Given the description of an element on the screen output the (x, y) to click on. 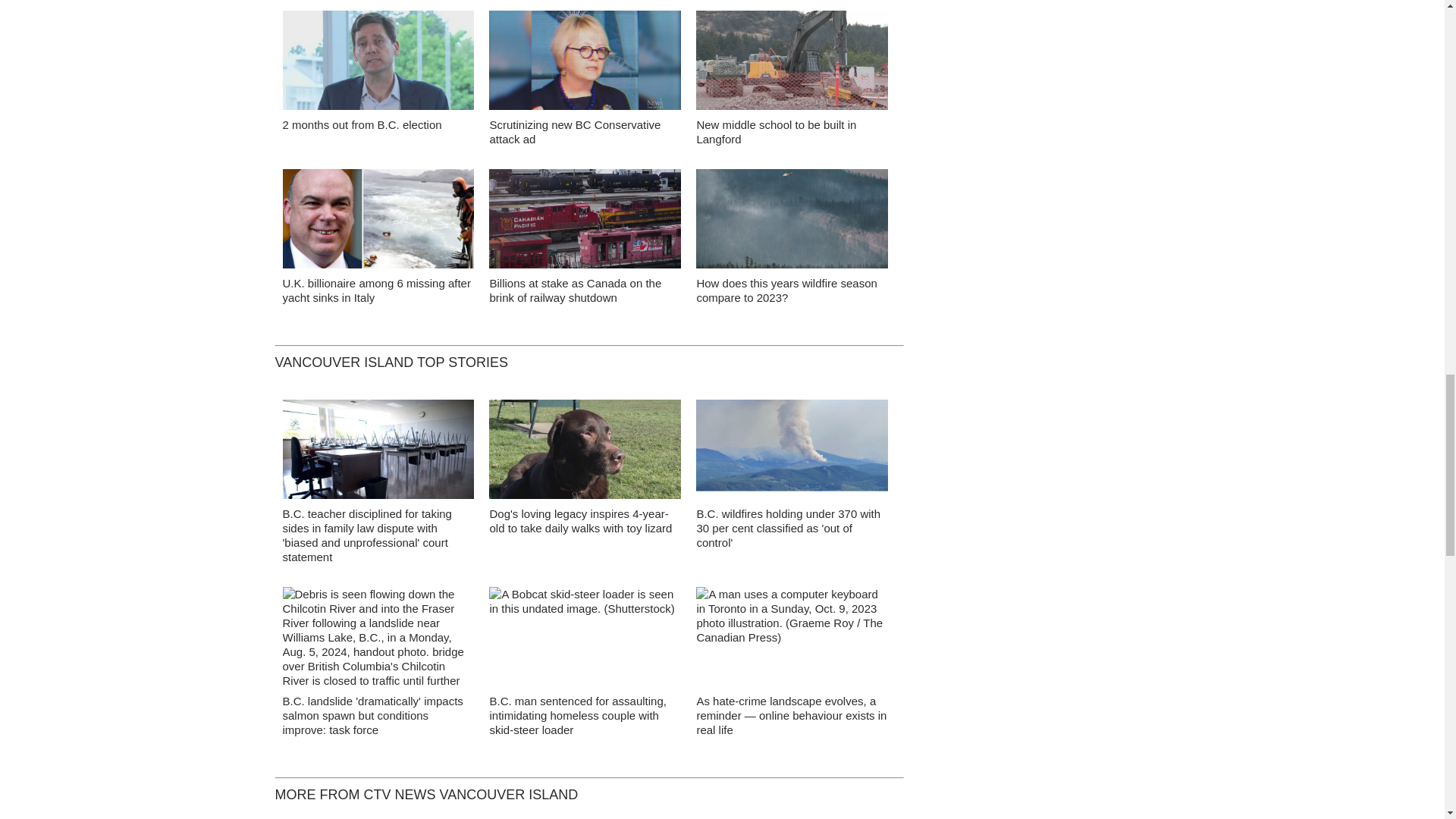
Scrutinizing new BC Conservative attack ad (575, 131)
How does this years wildfire season compare to 2023? (785, 289)
false (378, 59)
CN Rail  (585, 222)
U.K. billionaire among 6 missing after yacht sinks in Italy (376, 289)
SCHOOL (378, 452)
New middle school to be built in Langford (775, 131)
2 months out from B.C. election (361, 124)
Chilcotin River landslide debris (378, 640)
false (585, 218)
